Given the description of an element on the screen output the (x, y) to click on. 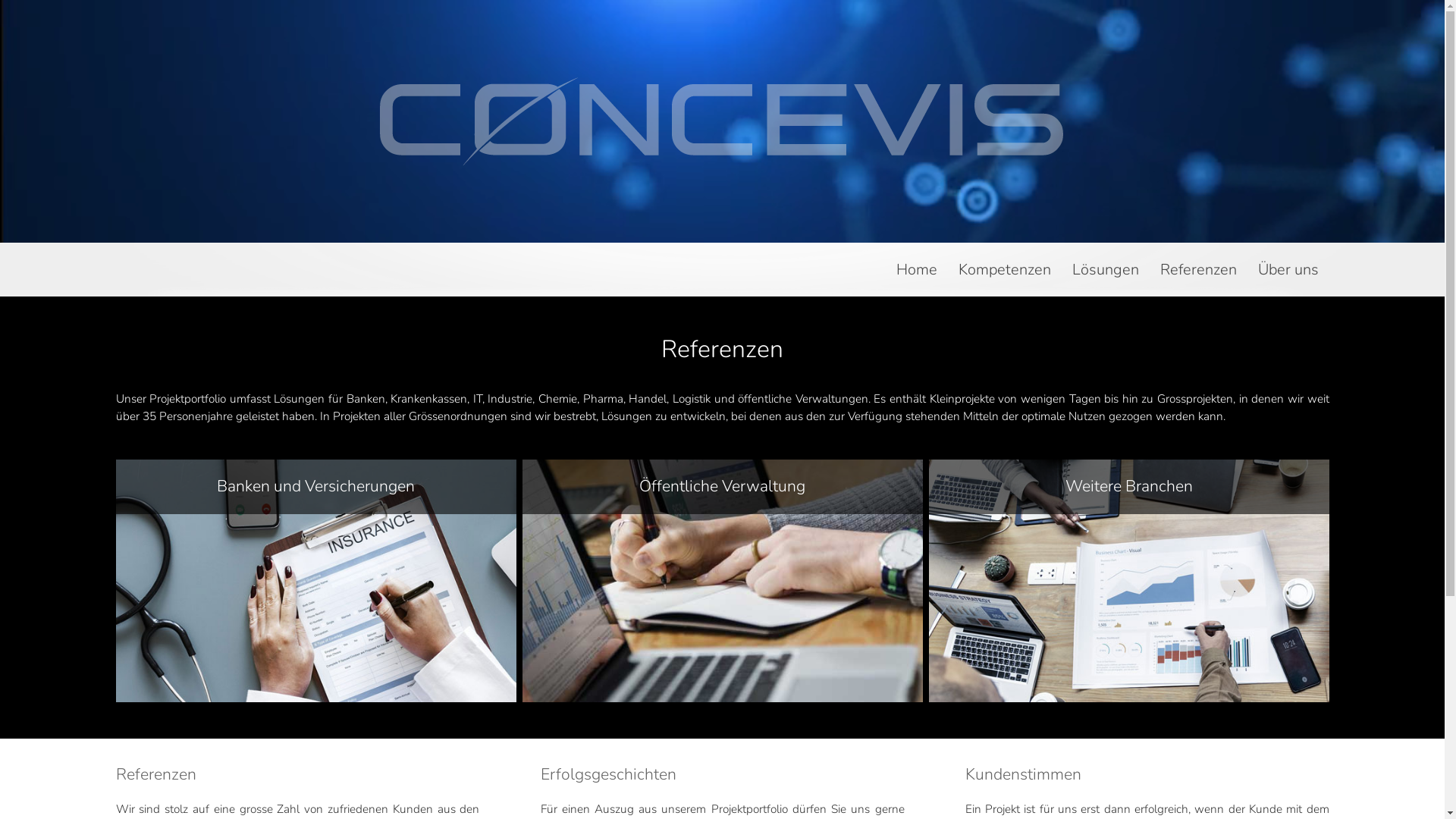
Weitere Branchen Element type: text (1128, 580)
Referenzen Element type: text (1198, 276)
Home Element type: text (916, 276)
Kompetenzen Element type: text (1004, 276)
Banken und Versicherungen Element type: text (315, 580)
